Given the description of an element on the screen output the (x, y) to click on. 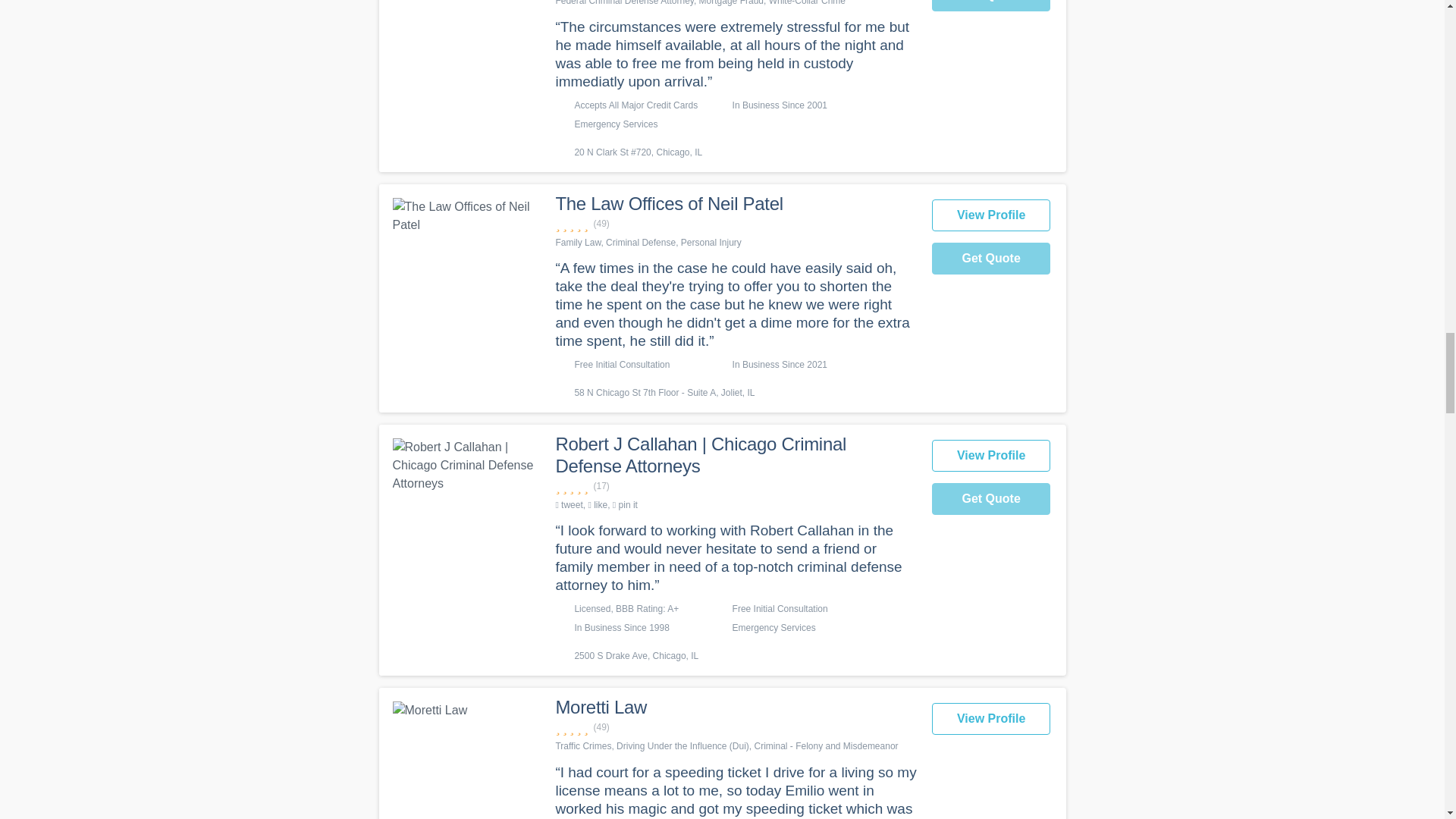
4.9 (734, 727)
5.0 (734, 486)
5.0 (734, 223)
